Given the description of an element on the screen output the (x, y) to click on. 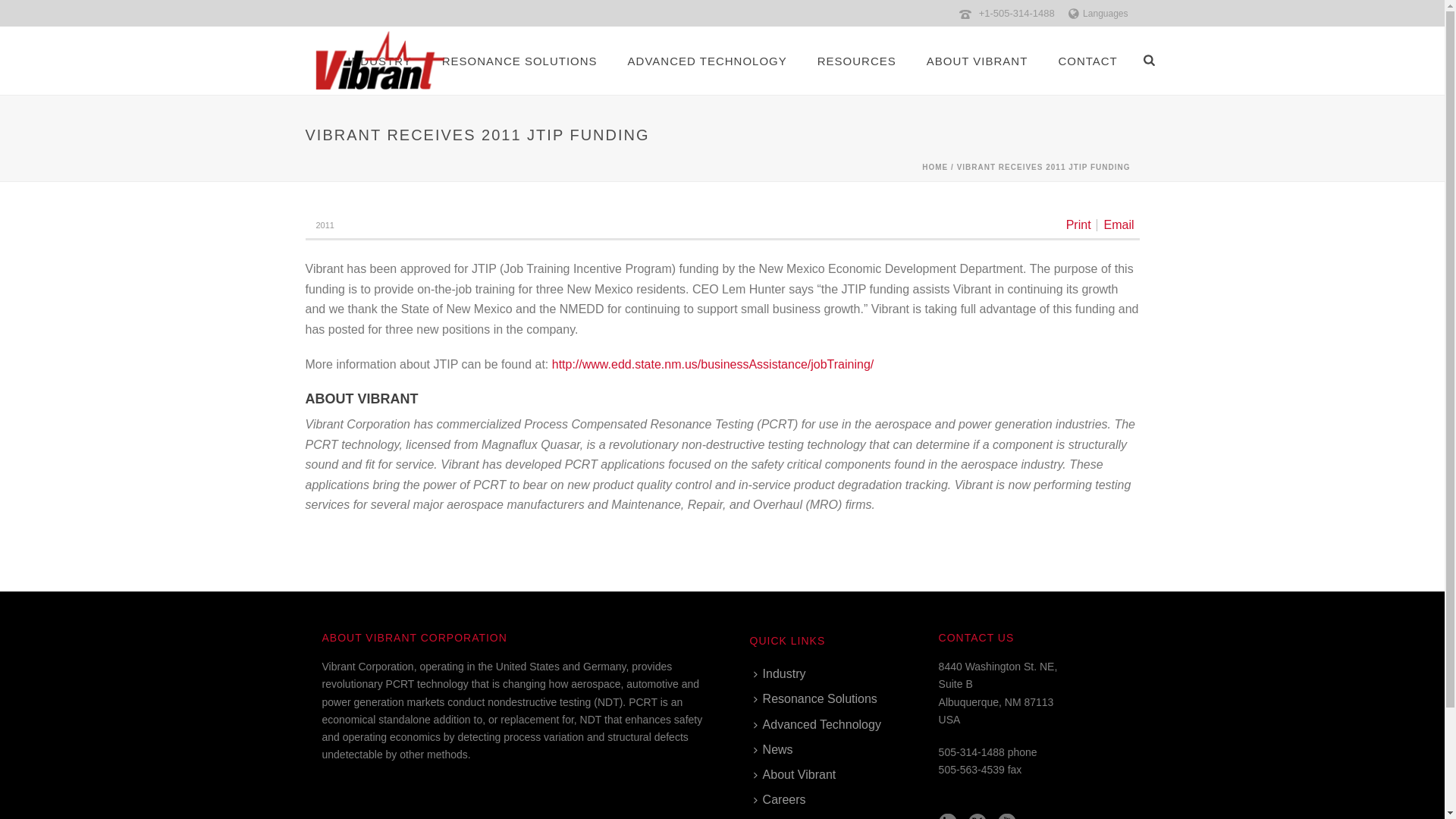
INDUSTRY (378, 61)
RESOURCES (856, 61)
Follow Us on twitter (977, 816)
RESONANCE SOLUTIONS (519, 61)
ADVANCED TECHNOLOGY (707, 61)
NDT that Supports your Bottom Line (379, 60)
CONTACT (1087, 61)
RESOURCES (856, 61)
Follow Us on linkedin (947, 816)
INDUSTRY (378, 61)
